Given the description of an element on the screen output the (x, y) to click on. 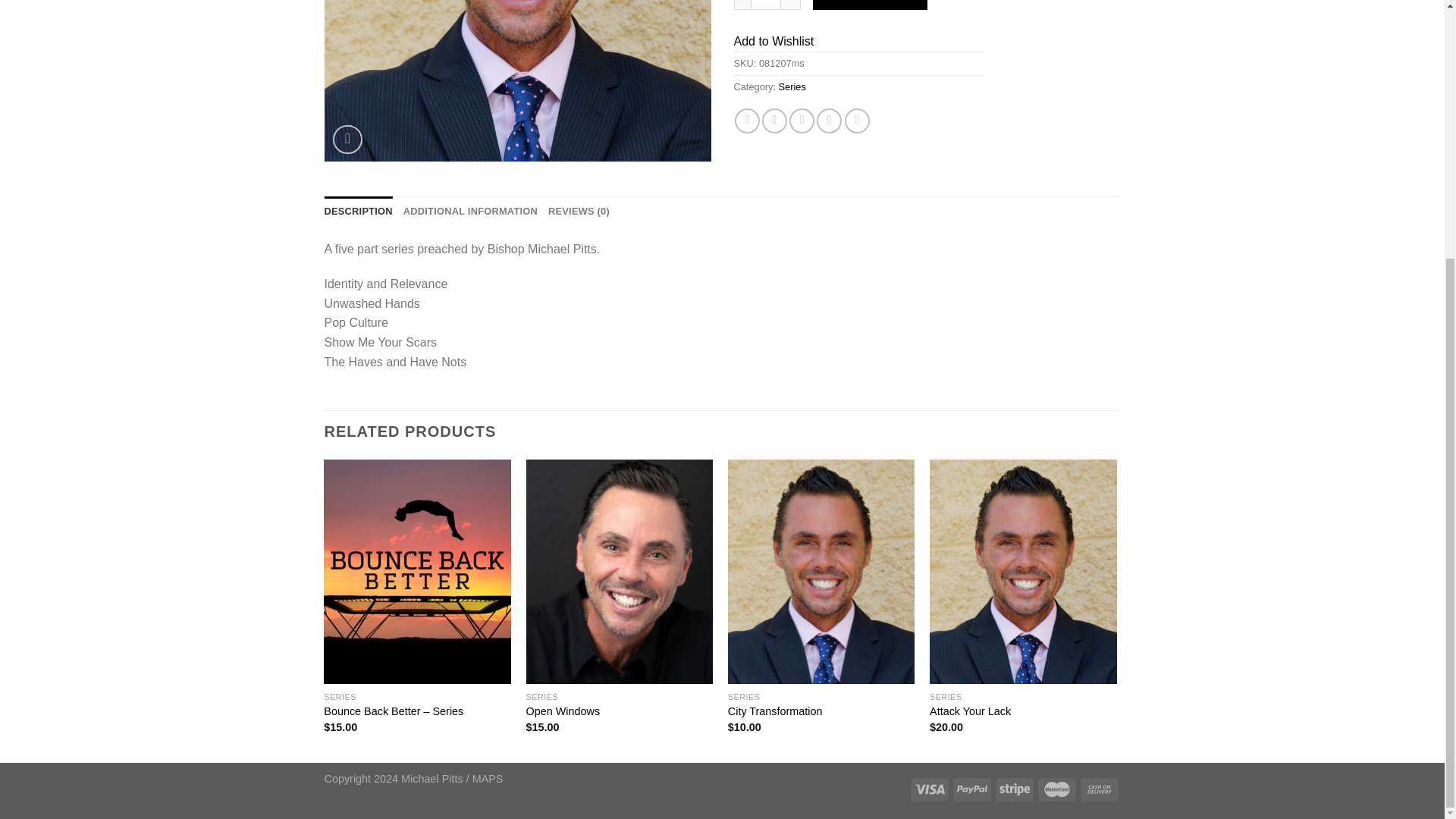
Share on Facebook (747, 120)
Series (792, 86)
Email to a Friend (801, 120)
Add to Wishlist (773, 41)
Share on Twitter (774, 120)
- (742, 4)
1 (765, 4)
Pin on Pinterest (828, 120)
ADD TO CART (869, 4)
Zoom (347, 139)
